Given the description of an element on the screen output the (x, y) to click on. 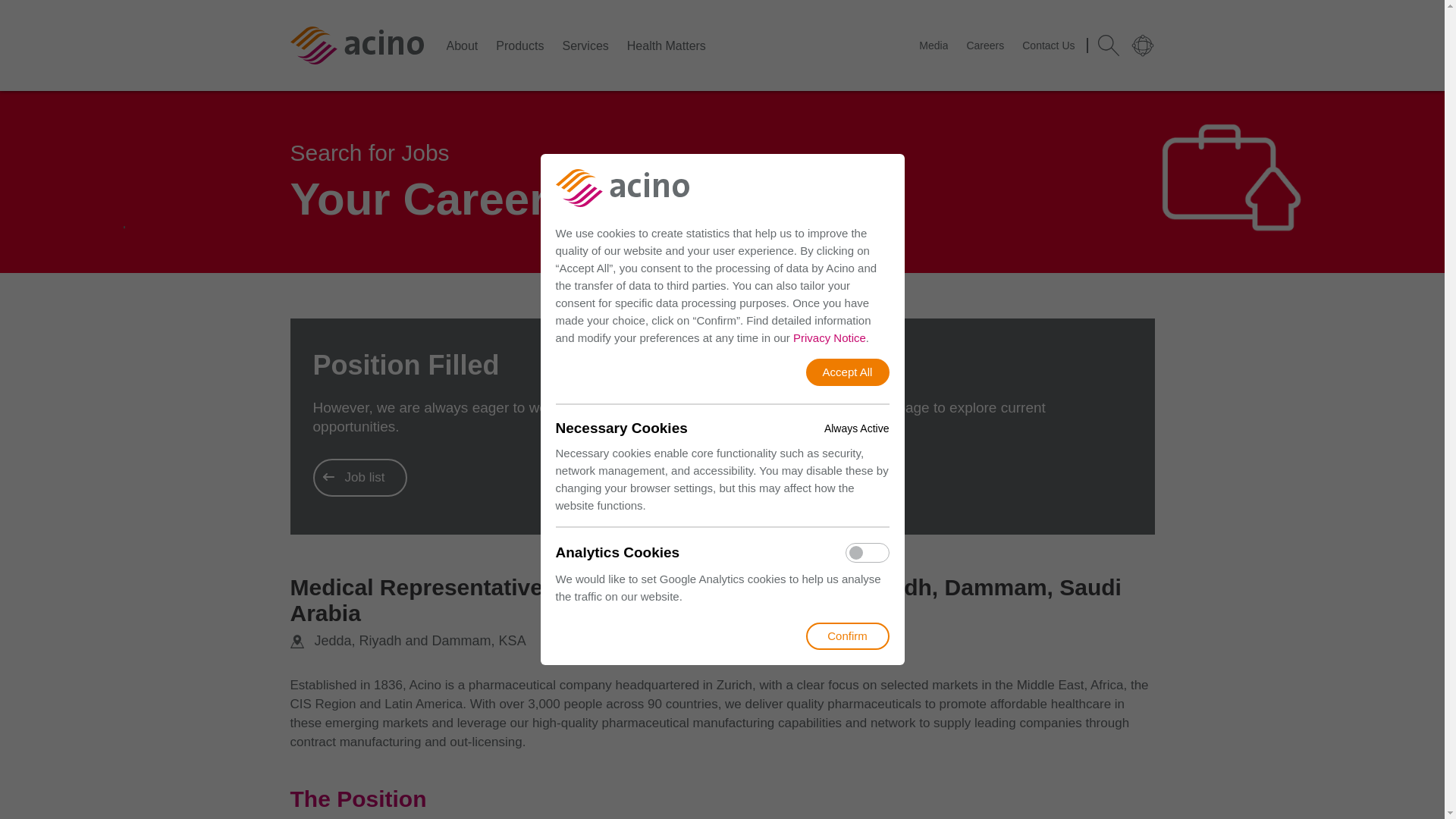
Services (585, 44)
Health Matters (666, 44)
Contact Us (1048, 45)
Media (932, 45)
About (461, 44)
Careers (985, 45)
Acino (356, 45)
Products (519, 44)
